Given the description of an element on the screen output the (x, y) to click on. 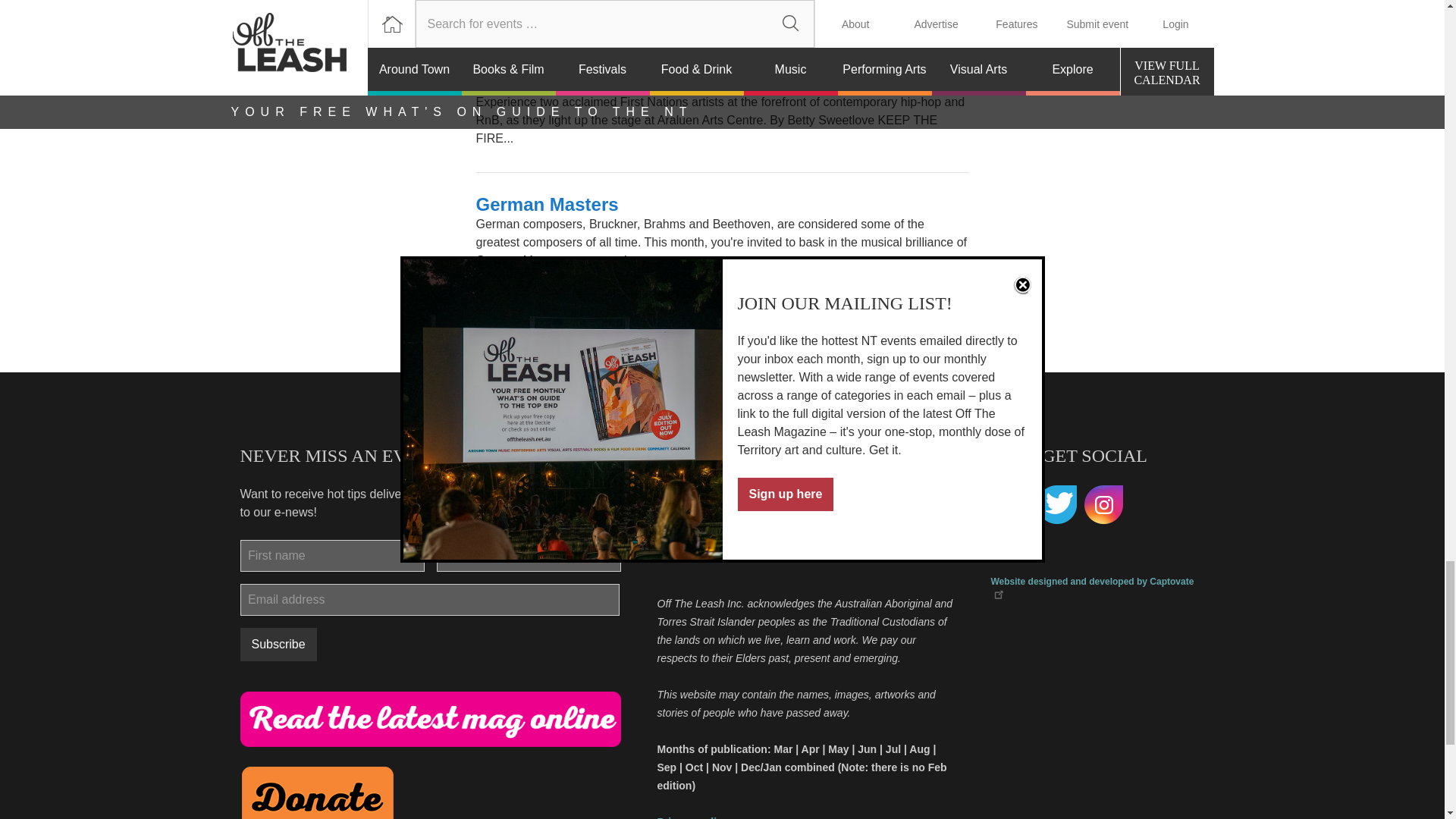
Follow us on Instagram (1104, 504)
Like us on Facebook (1009, 504)
Follow us on Twitter (1056, 504)
Subscribe (277, 644)
PayPal - The safer, easier way to pay online! (317, 791)
Keep The Fire Burning (573, 81)
Privacy policy (692, 816)
Subscribe (277, 644)
German Masters (547, 204)
